Given the description of an element on the screen output the (x, y) to click on. 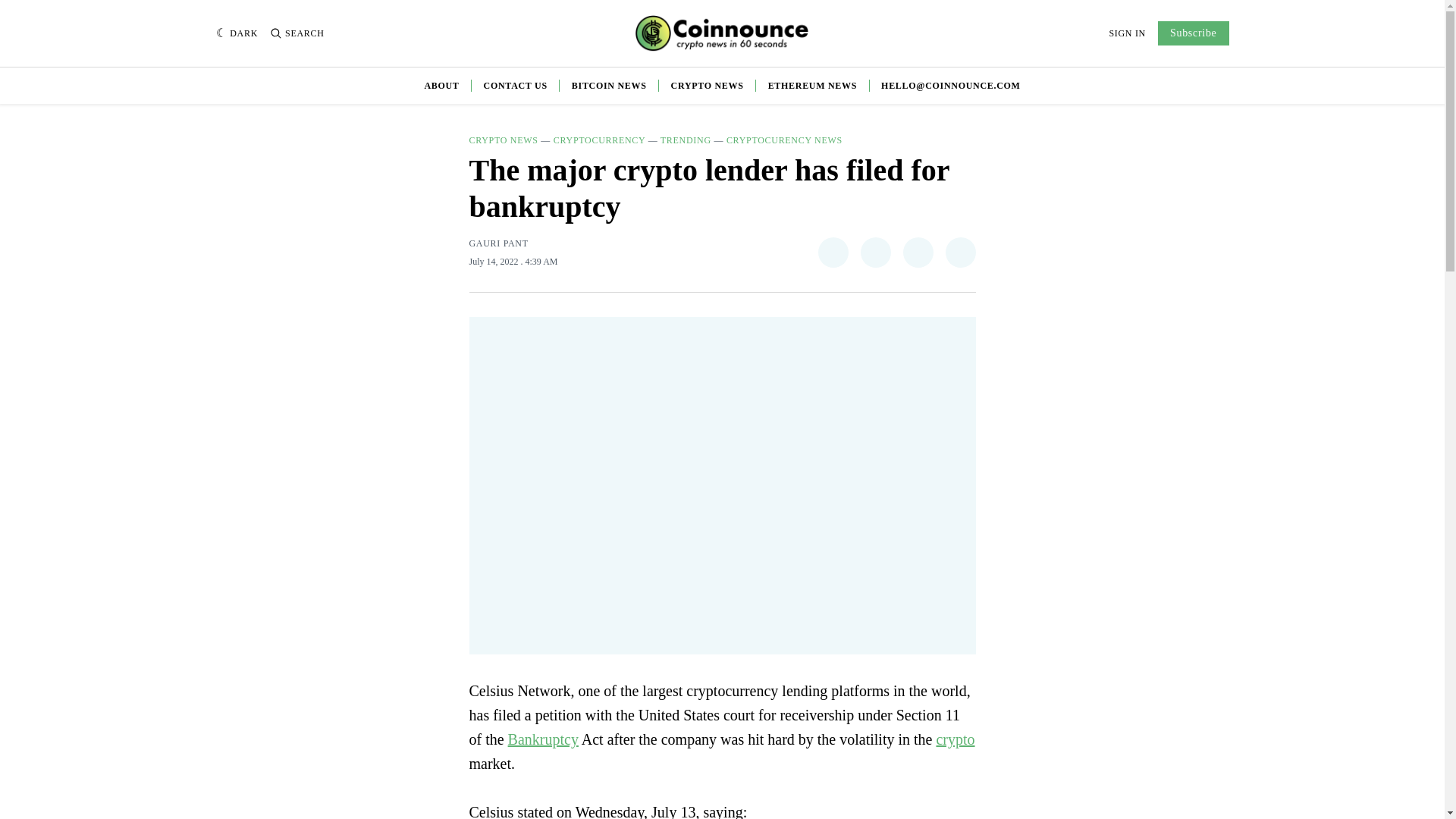
ABOUT (440, 85)
CRYPTO NEWS (502, 140)
CRYPTO NEWS (707, 85)
CRYPTOCURRENCY (599, 140)
GAURI PANT (497, 243)
CONTACT US (515, 85)
Share via Email (959, 252)
Share on Twitter (831, 252)
Share on LinkedIn (917, 252)
crypto (955, 739)
